Given the description of an element on the screen output the (x, y) to click on. 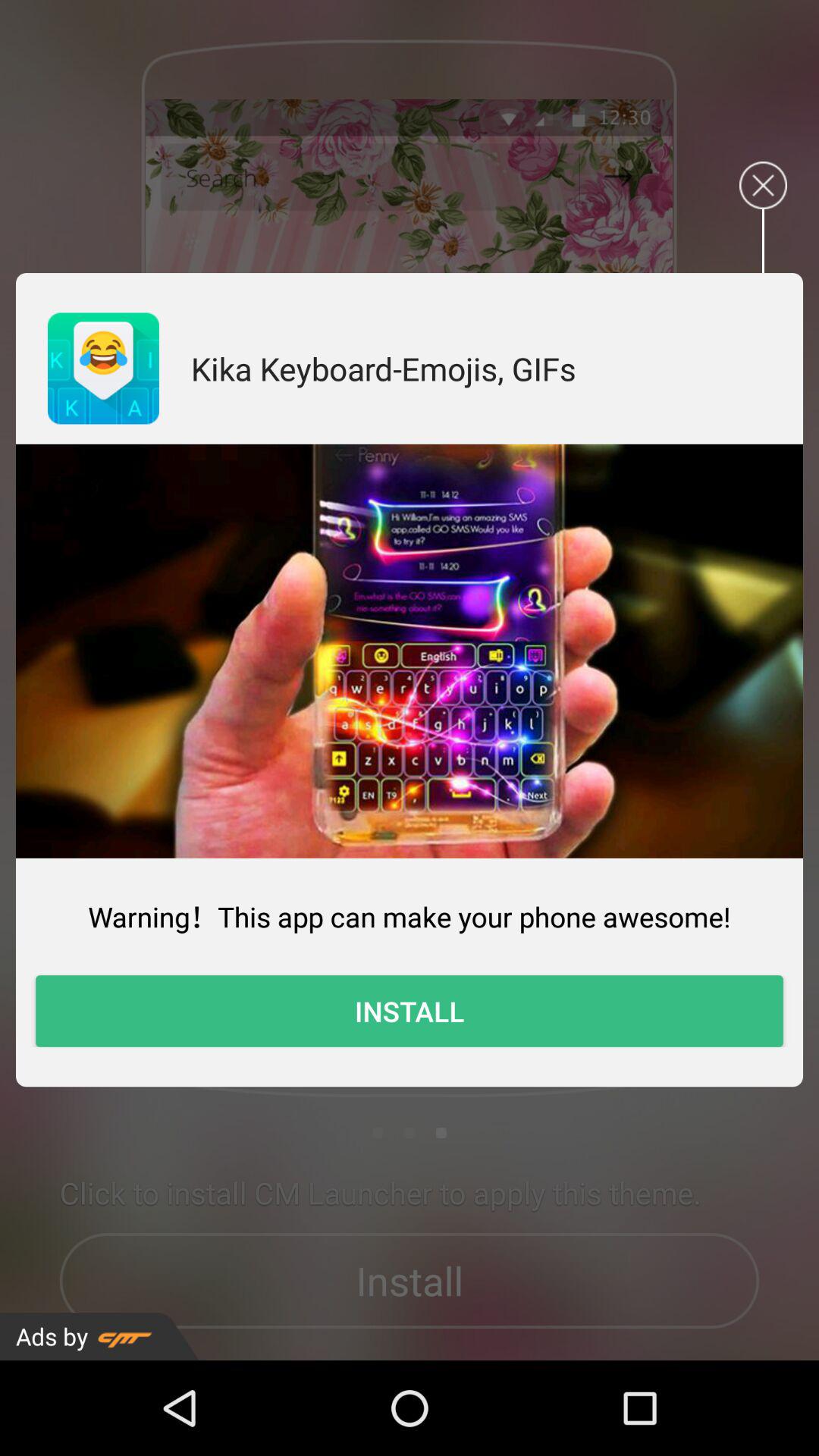
choose the item at the bottom (409, 1011)
